Given the description of an element on the screen output the (x, y) to click on. 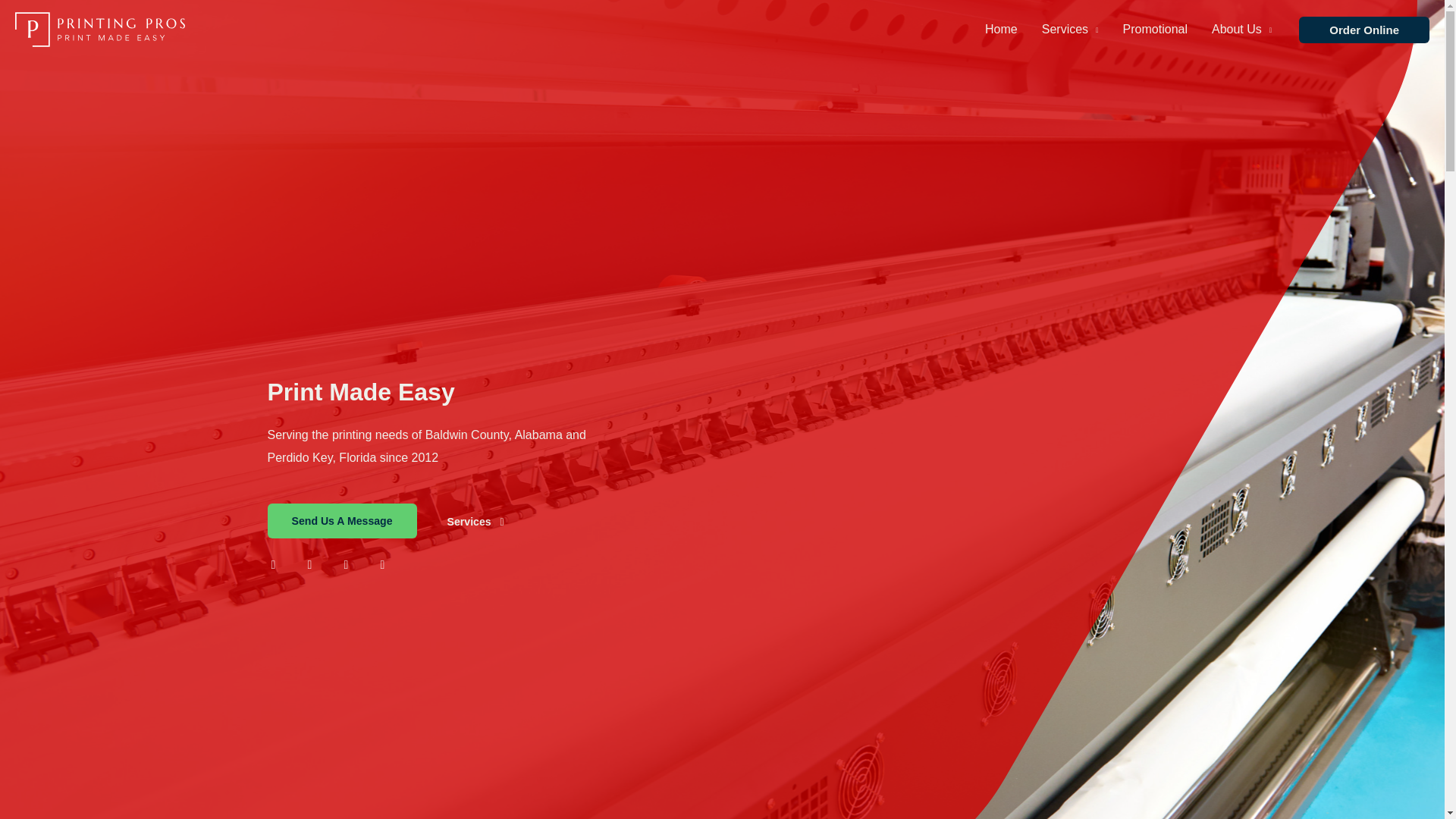
Promotional (1154, 29)
Order Online (1363, 29)
Services (474, 521)
About Us (1241, 29)
Send Us A Message (341, 520)
Services (1069, 29)
Home (1000, 29)
